Given the description of an element on the screen output the (x, y) to click on. 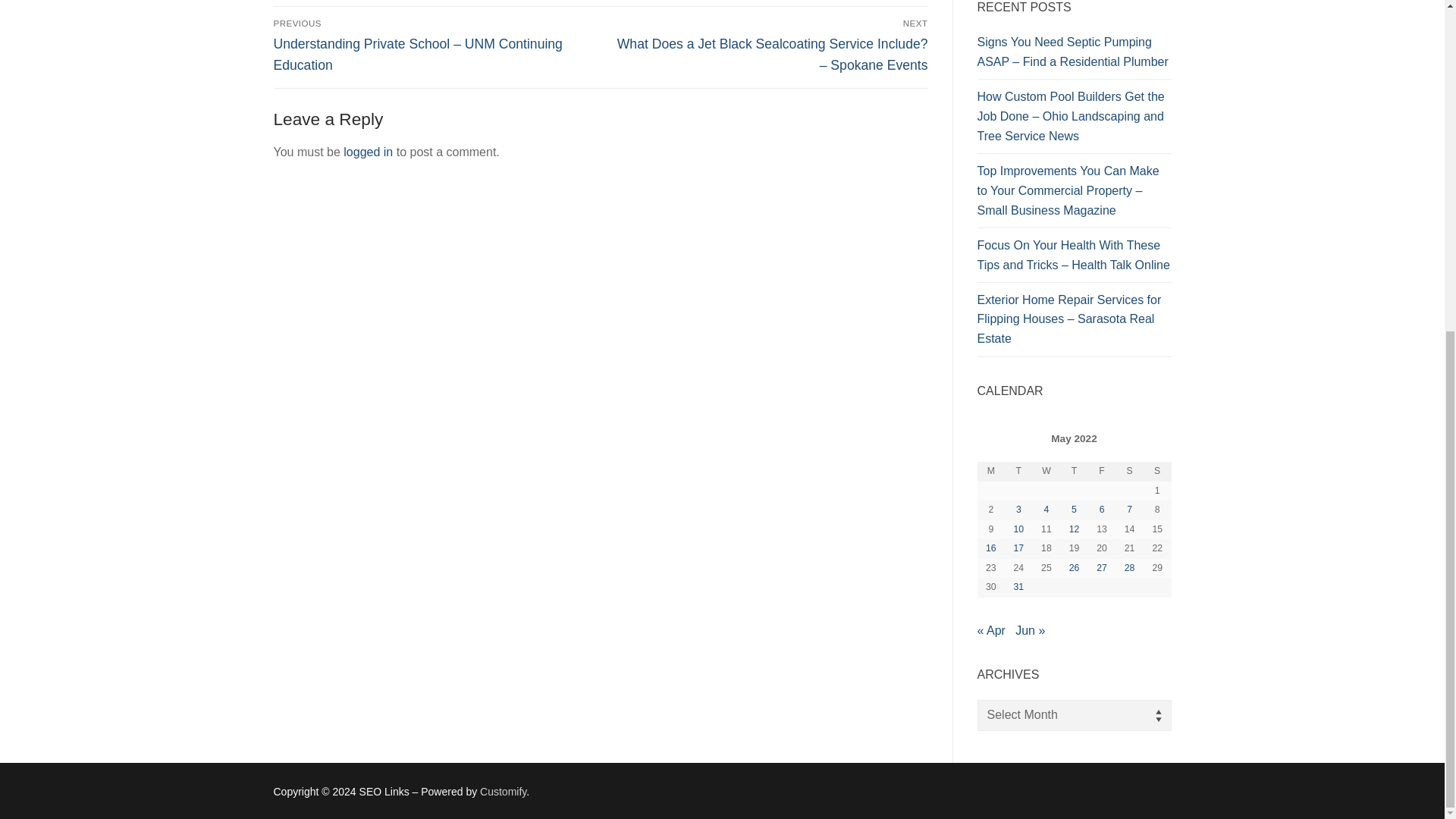
Wednesday (1046, 471)
Tuesday (1018, 471)
Friday (1101, 471)
Saturday (1128, 471)
Monday (990, 471)
Thursday (1073, 471)
logged in (368, 151)
